Given the description of an element on the screen output the (x, y) to click on. 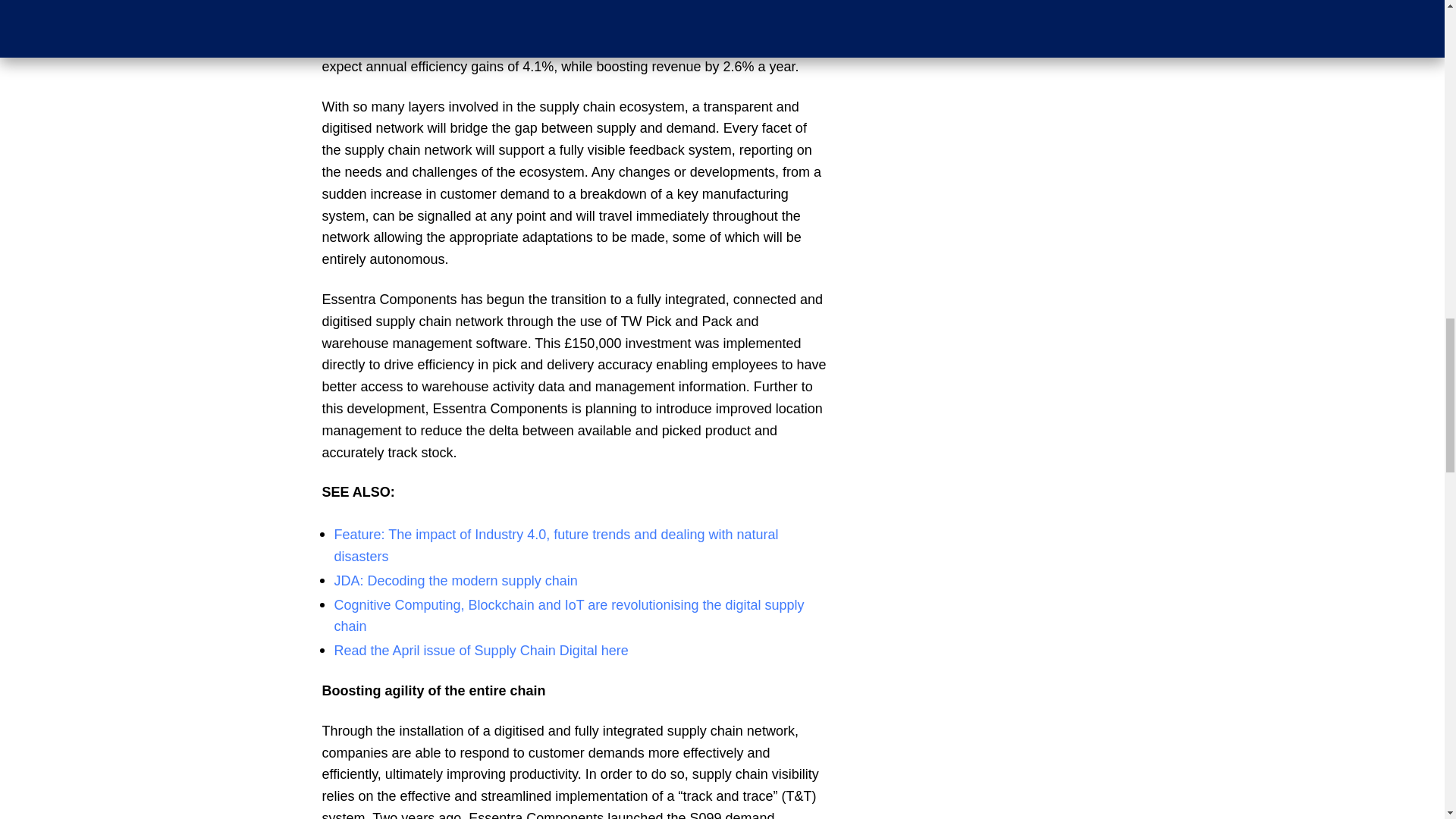
Read the April issue of Supply Chain Digital here  (482, 650)
JDA: Decoding the modern supply chain (454, 580)
